Given the description of an element on the screen output the (x, y) to click on. 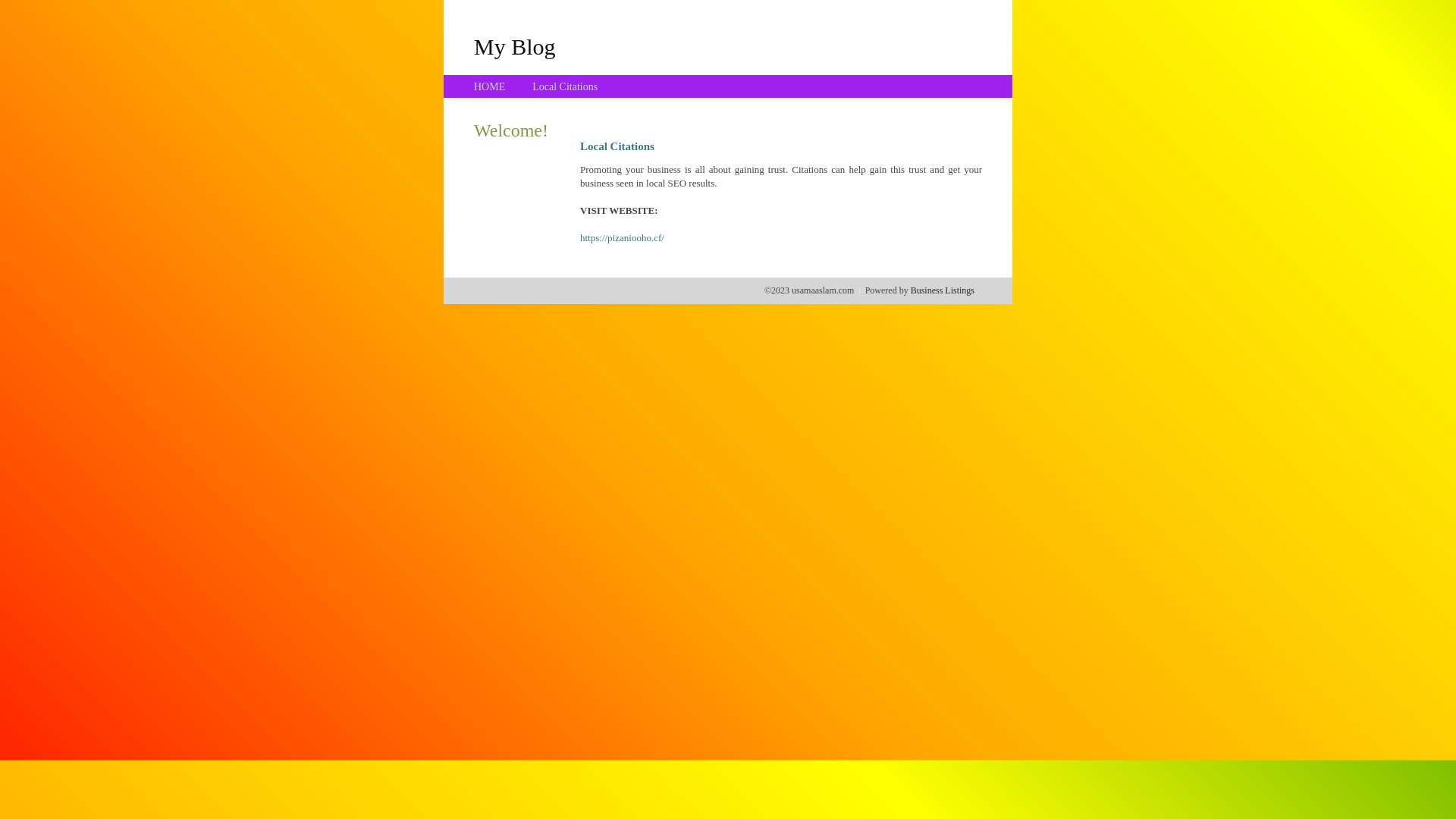
Local Citations Element type: text (564, 86)
Business Listings Element type: text (942, 290)
My Blog Element type: text (514, 46)
HOME Element type: text (489, 86)
https://pizaniooho.cf/ Element type: text (622, 237)
